Given the description of an element on the screen output the (x, y) to click on. 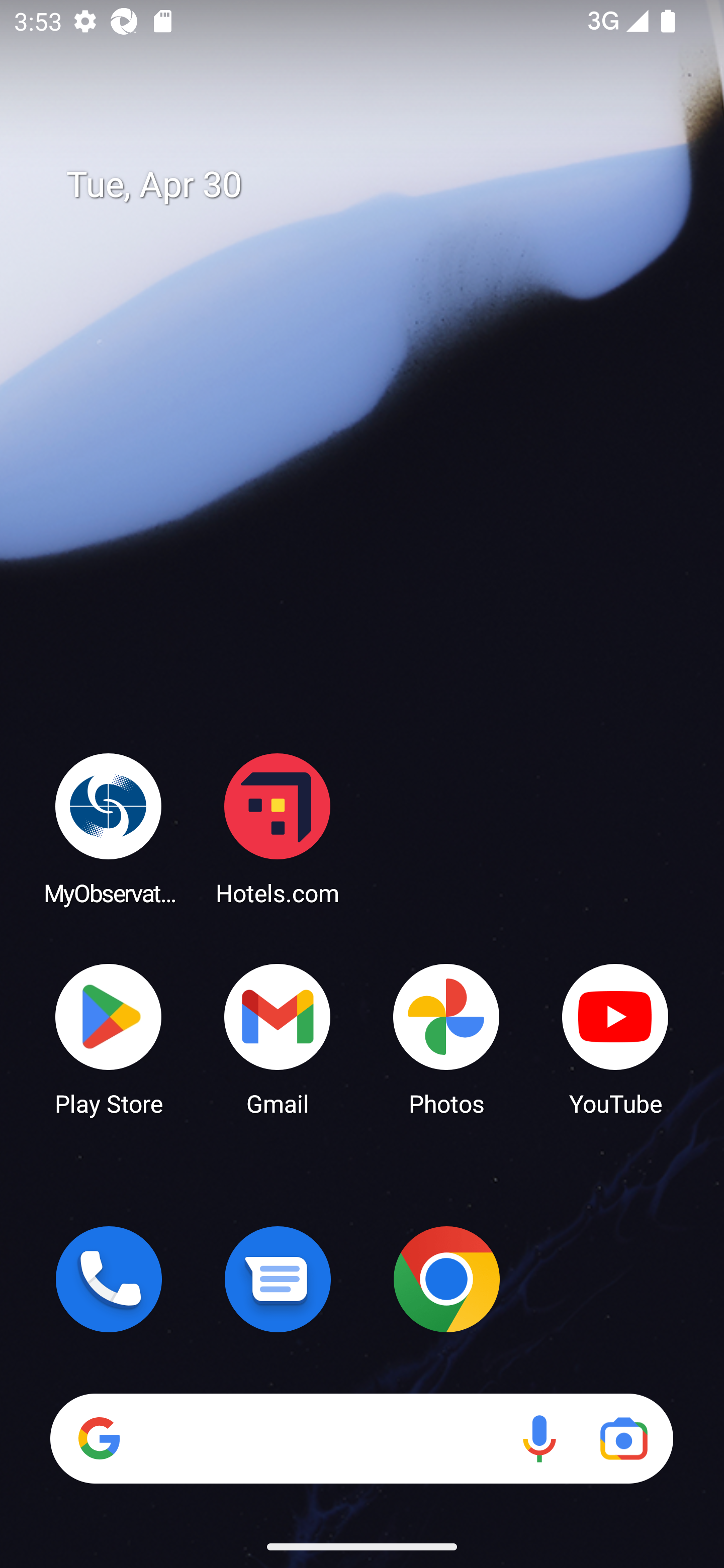
Tue, Apr 30 (375, 184)
MyObservatory (108, 828)
Hotels.com (277, 828)
Play Store (108, 1038)
Gmail (277, 1038)
Photos (445, 1038)
YouTube (615, 1038)
Phone (108, 1279)
Messages (277, 1279)
Chrome (446, 1279)
Search Voice search Google Lens (361, 1438)
Voice search (539, 1438)
Google Lens (623, 1438)
